Given the description of an element on the screen output the (x, y) to click on. 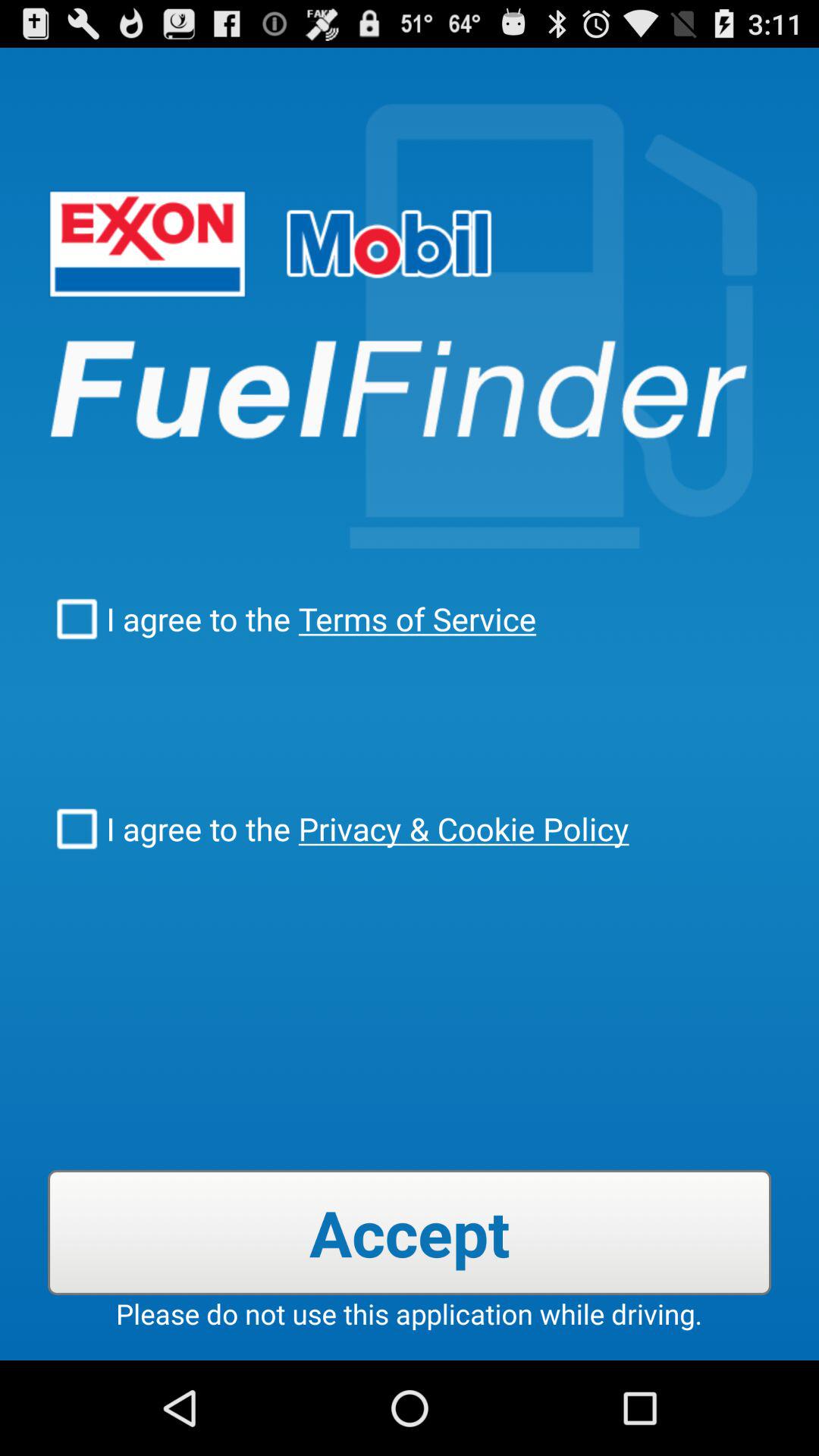
press checkbox to the right of the i agree to (413, 618)
